Given the description of an element on the screen output the (x, y) to click on. 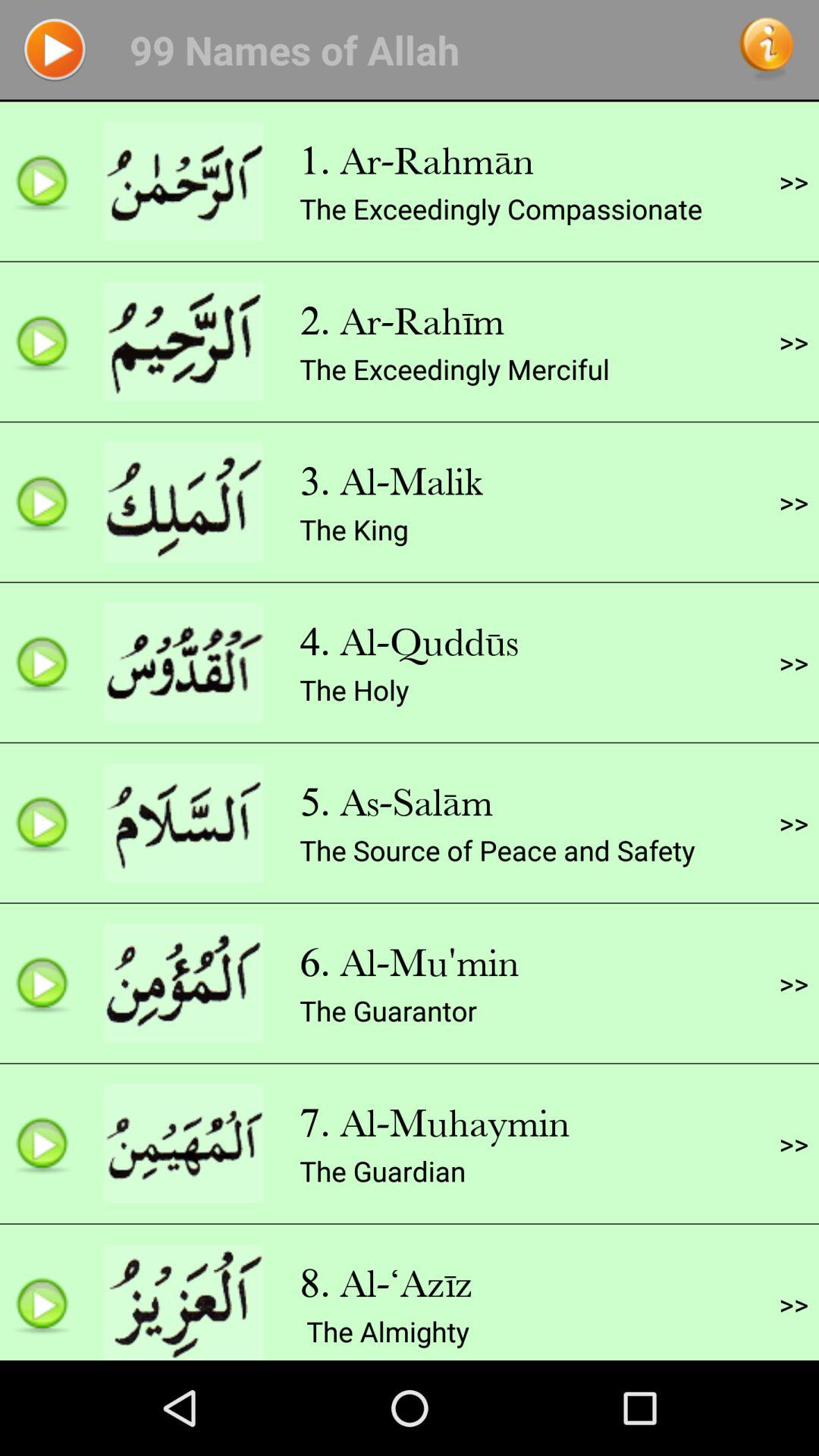
open the the guarantor (388, 1010)
